Given the description of an element on the screen output the (x, y) to click on. 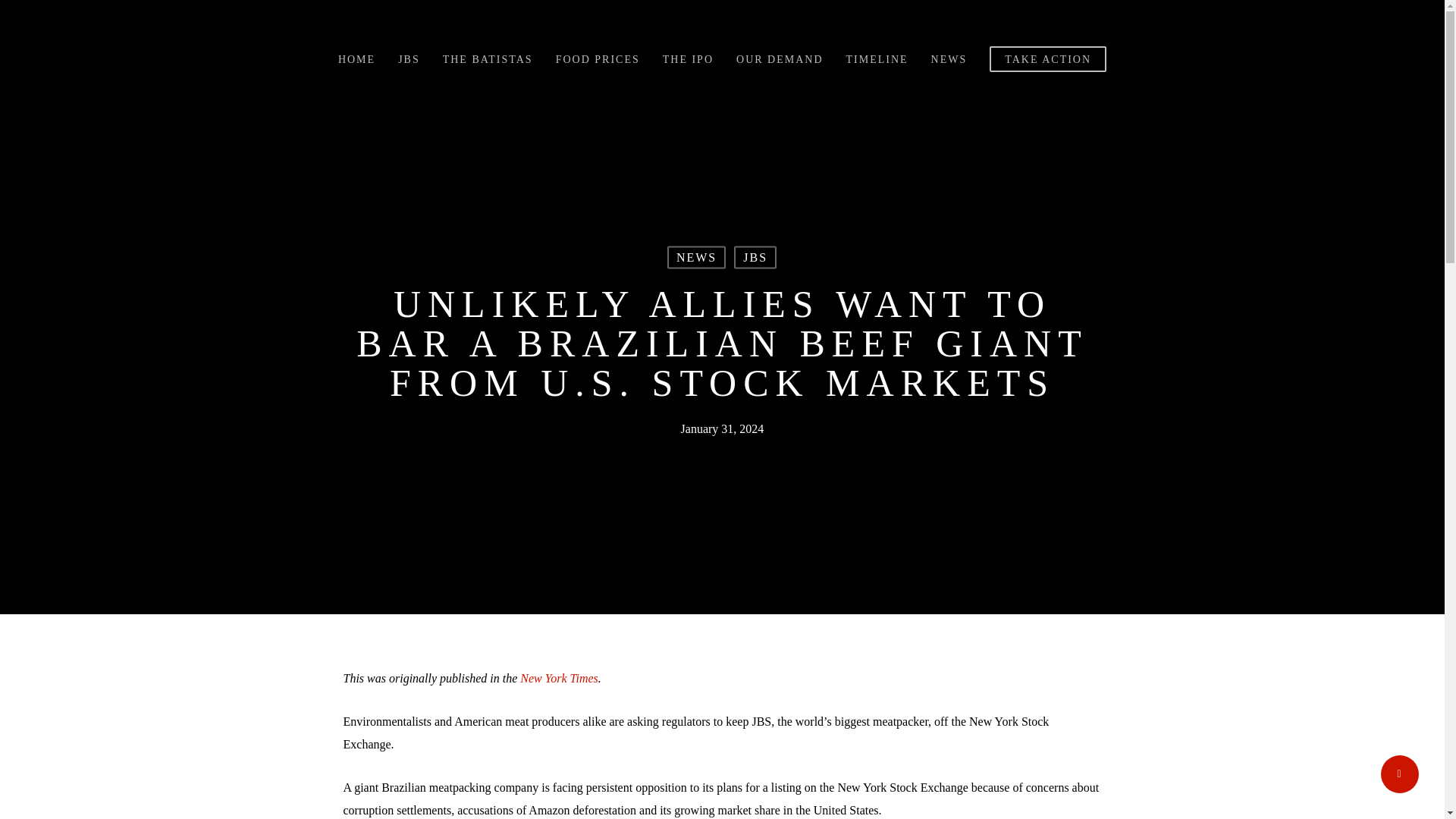
THE IPO (687, 59)
JBS (754, 256)
TAKE ACTION (1048, 59)
tiktok (828, 632)
NEWS (949, 59)
THE BATISTAS (487, 59)
facebook (669, 632)
twitter (615, 632)
OUR DEMAND (780, 59)
JBS (408, 59)
